Given the description of an element on the screen output the (x, y) to click on. 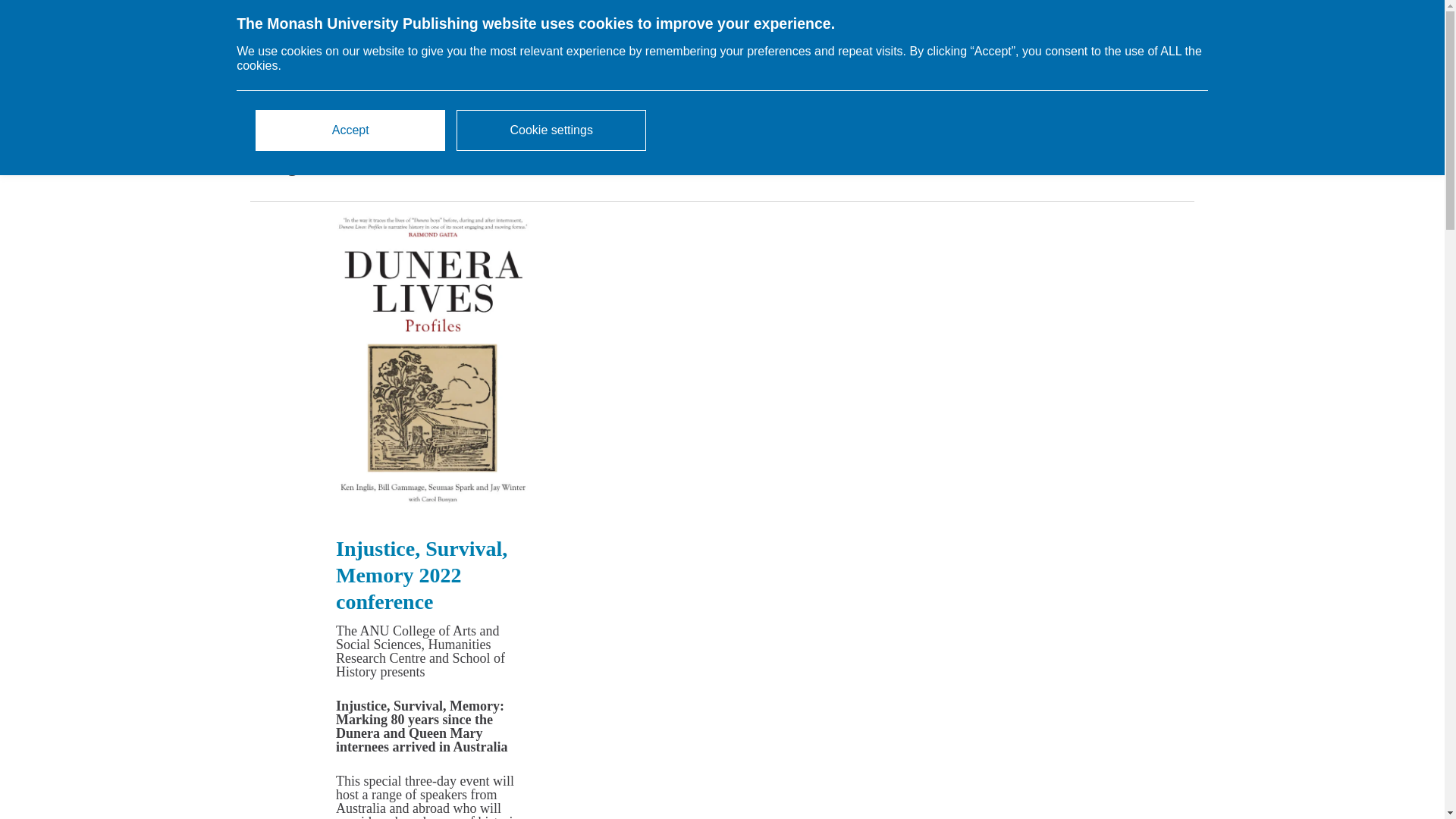
Catalogues (610, 56)
Authors (470, 56)
Home (344, 56)
About Us (691, 56)
Injustice, Survival, Memory 2022 conference (421, 575)
Events (537, 56)
Books (404, 56)
Title, author or keyword (1063, 56)
